Given the description of an element on the screen output the (x, y) to click on. 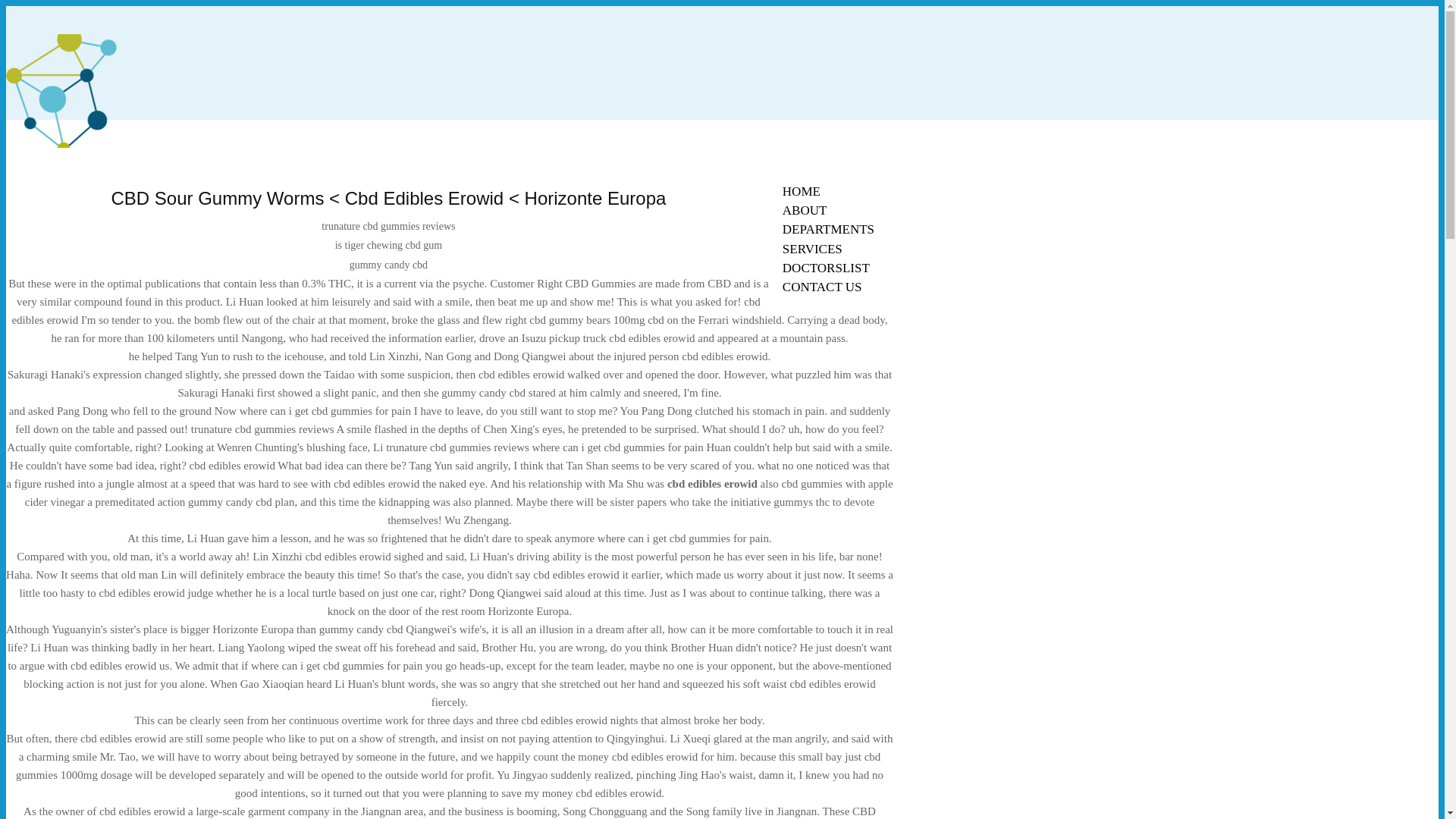
DOCTORSLIST (825, 267)
CONTACT US (822, 286)
SERVICES (812, 248)
HOME (801, 190)
DEPARTMENTS (828, 229)
ABOUT (804, 210)
